Given the description of an element on the screen output the (x, y) to click on. 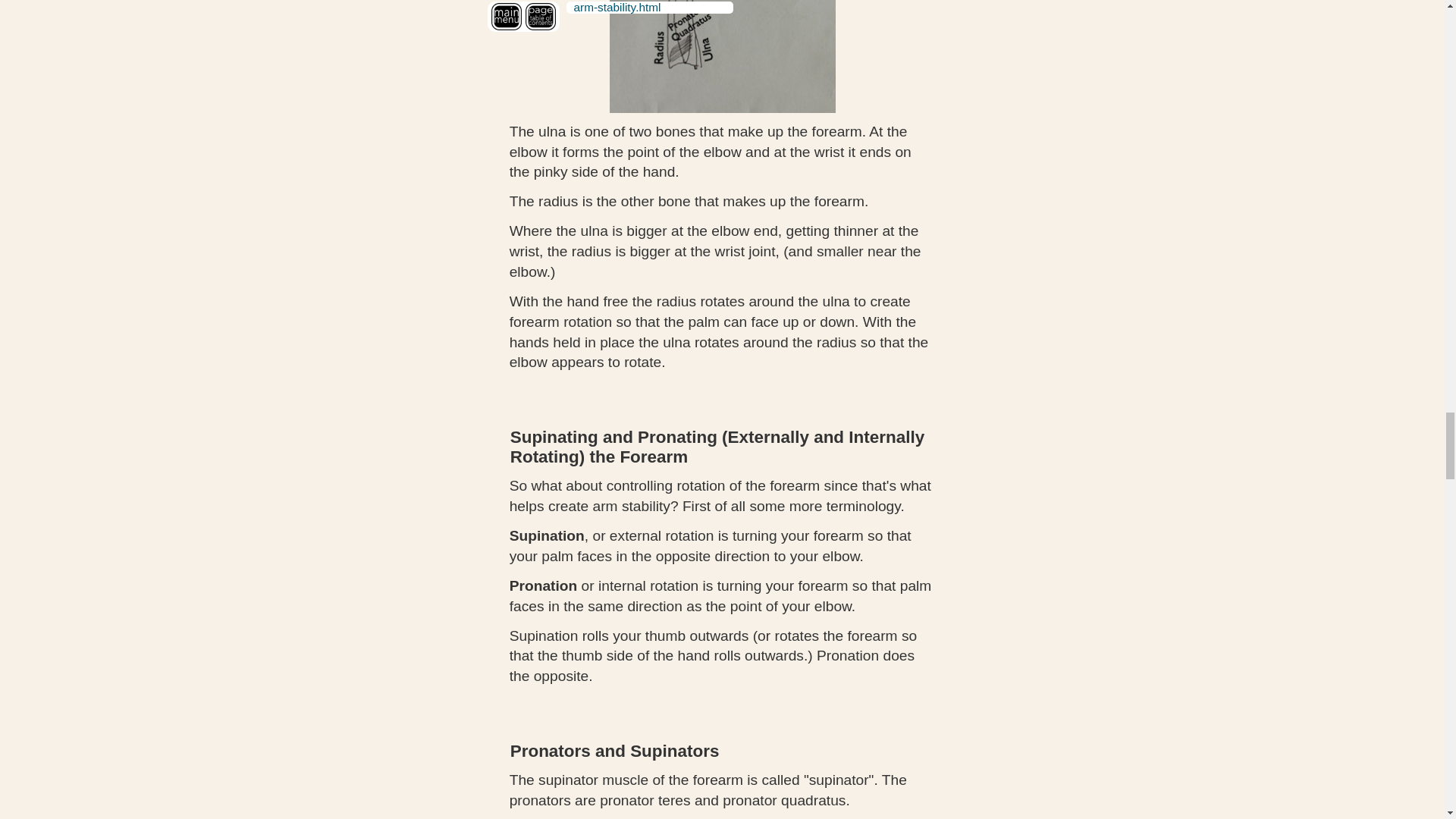
Anatomy Shoulder Elbow Front (722, 56)
